Given the description of an element on the screen output the (x, y) to click on. 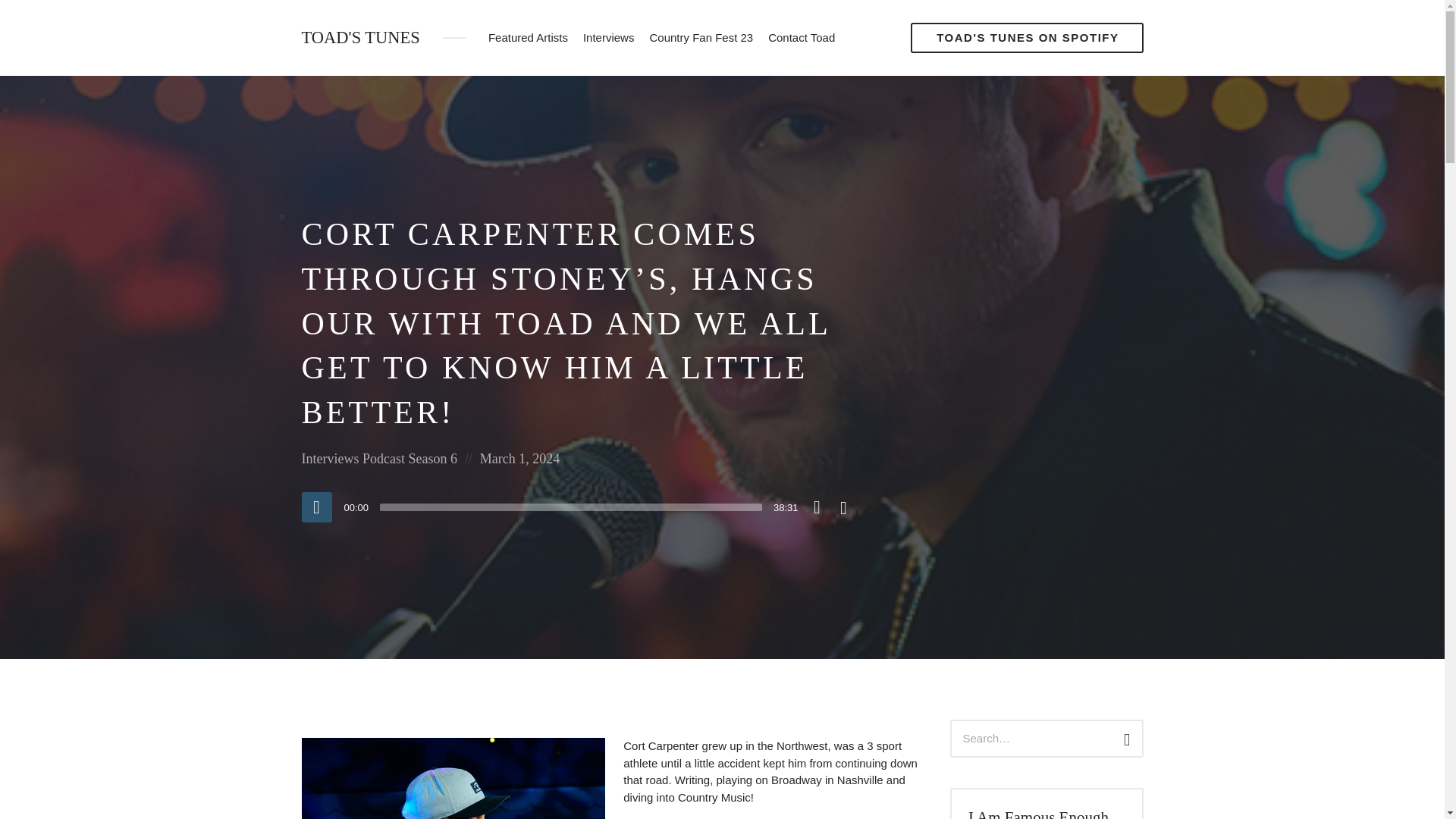
Country Fan Fest 23 (701, 37)
Play (316, 507)
Podcast (383, 458)
March 1, 2024 (519, 458)
Season 6 (432, 458)
TOAD'S TUNES (360, 37)
Interviews (608, 37)
Featured Artists (527, 37)
Interviews (330, 458)
Contact Toad (801, 37)
TOAD'S TUNES ON SPOTIFY (1026, 37)
